Given the description of an element on the screen output the (x, y) to click on. 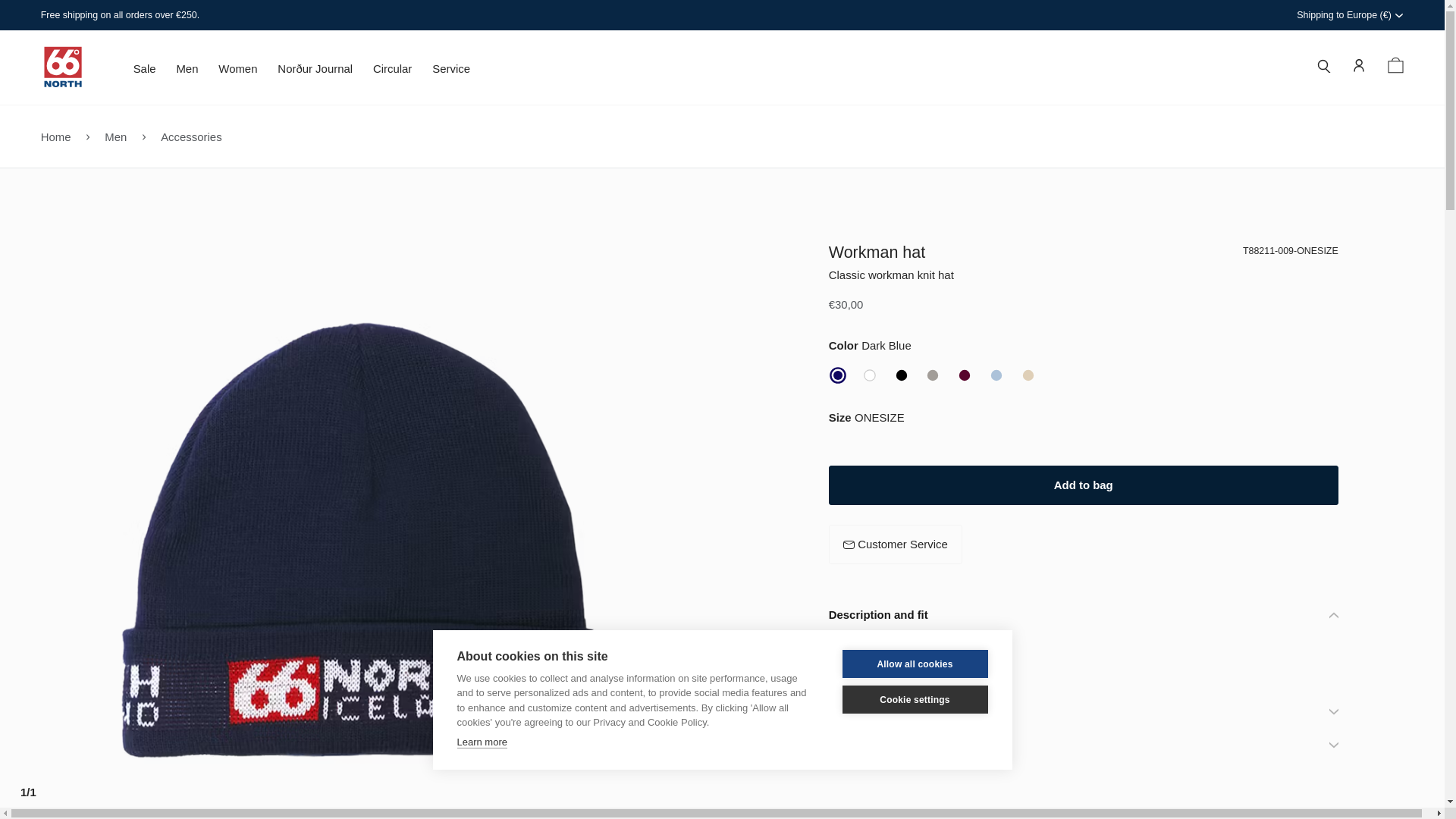
Circular (392, 72)
Home (55, 135)
Sale (144, 72)
Service (451, 72)
Men (187, 72)
Men (115, 135)
Women (237, 72)
Allow all cookies (914, 712)
Cookie settings (914, 715)
